Given the description of an element on the screen output the (x, y) to click on. 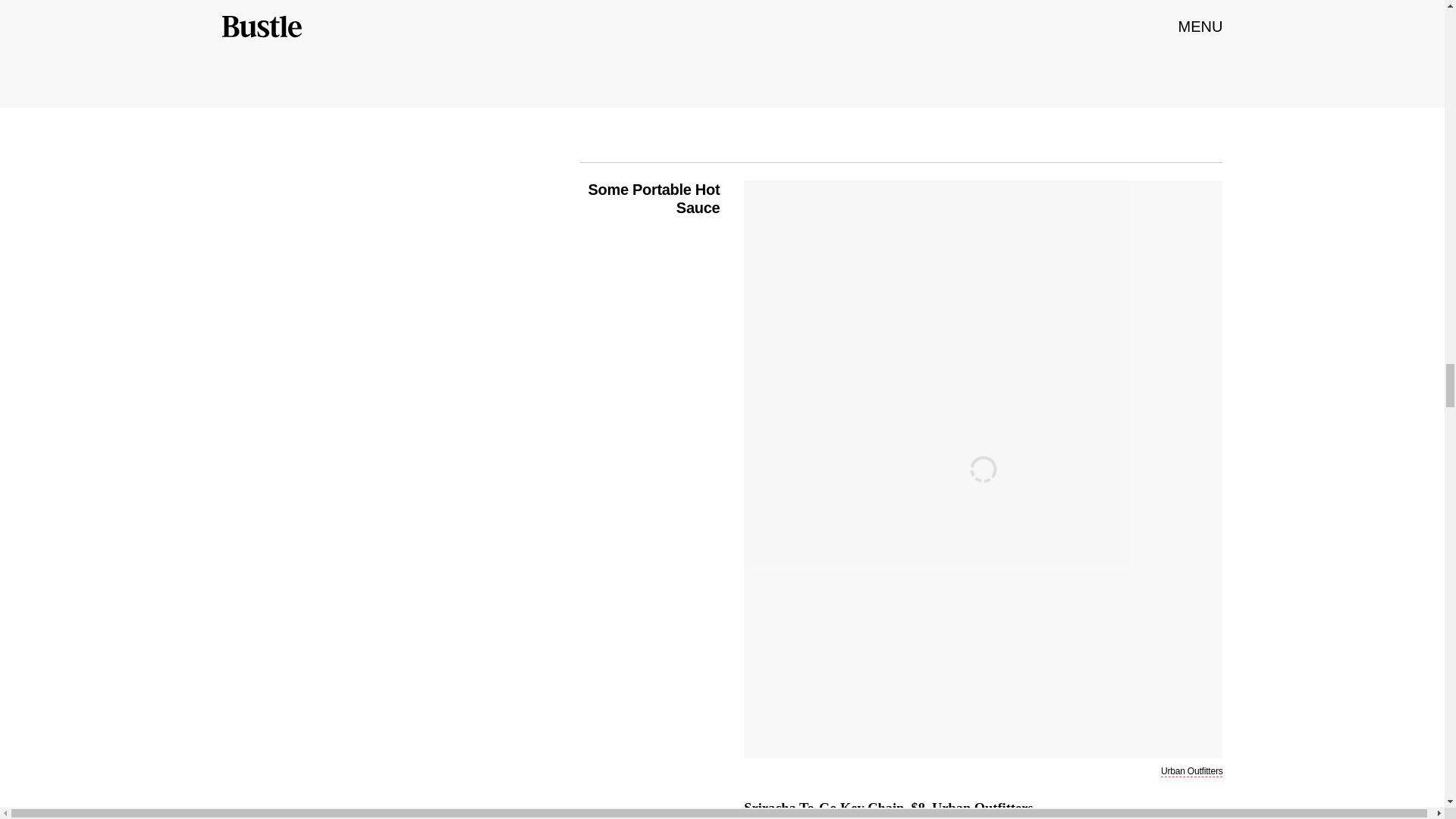
Urban Outfitters (1191, 771)
Sriracha To-Go Key Chain (824, 809)
Urban Outfitters (981, 809)
